Given the description of an element on the screen output the (x, y) to click on. 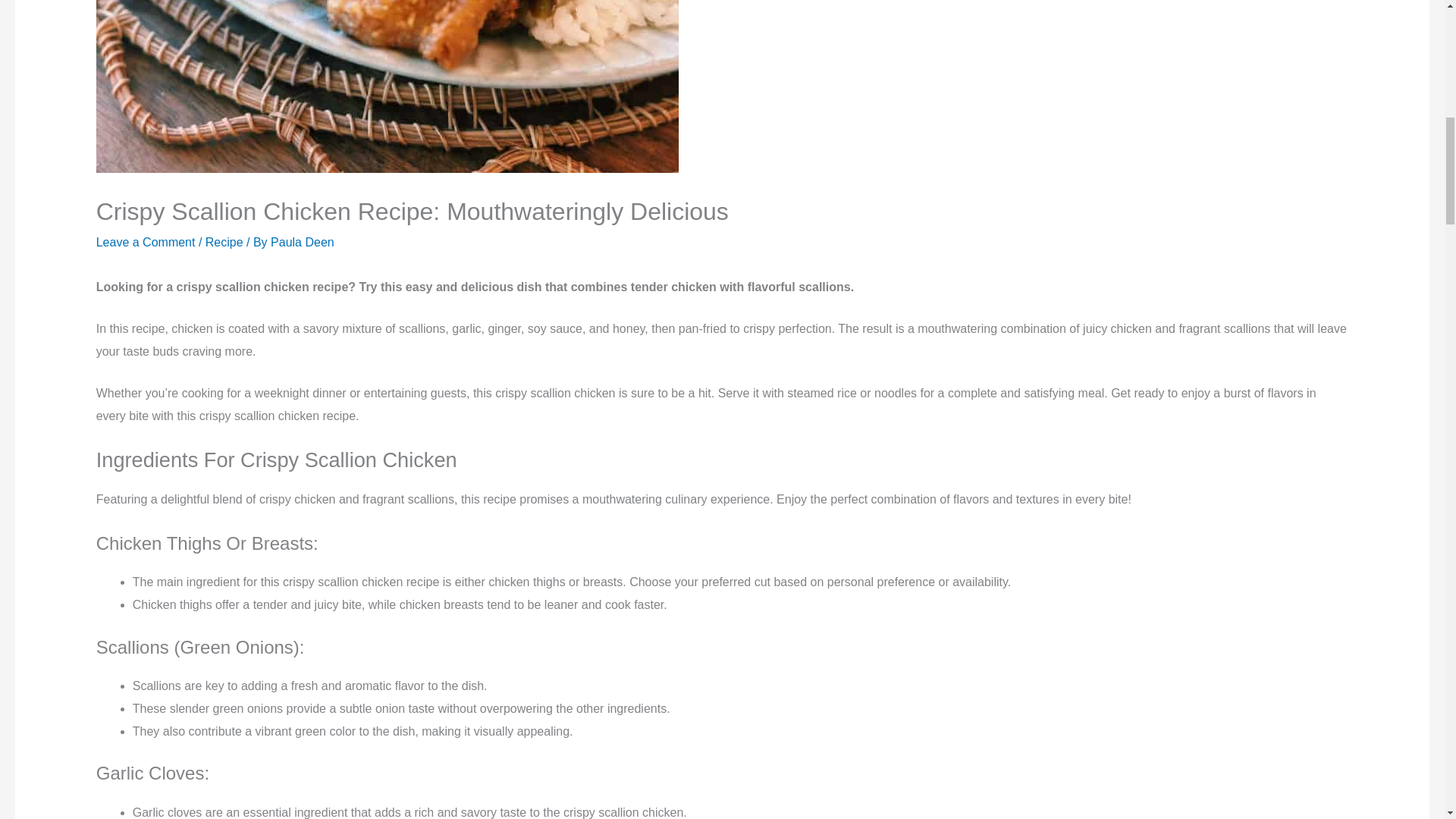
View all posts by Paula Deen (302, 241)
Paula Deen (302, 241)
Recipe (224, 241)
Leave a Comment (145, 241)
